Given the description of an element on the screen output the (x, y) to click on. 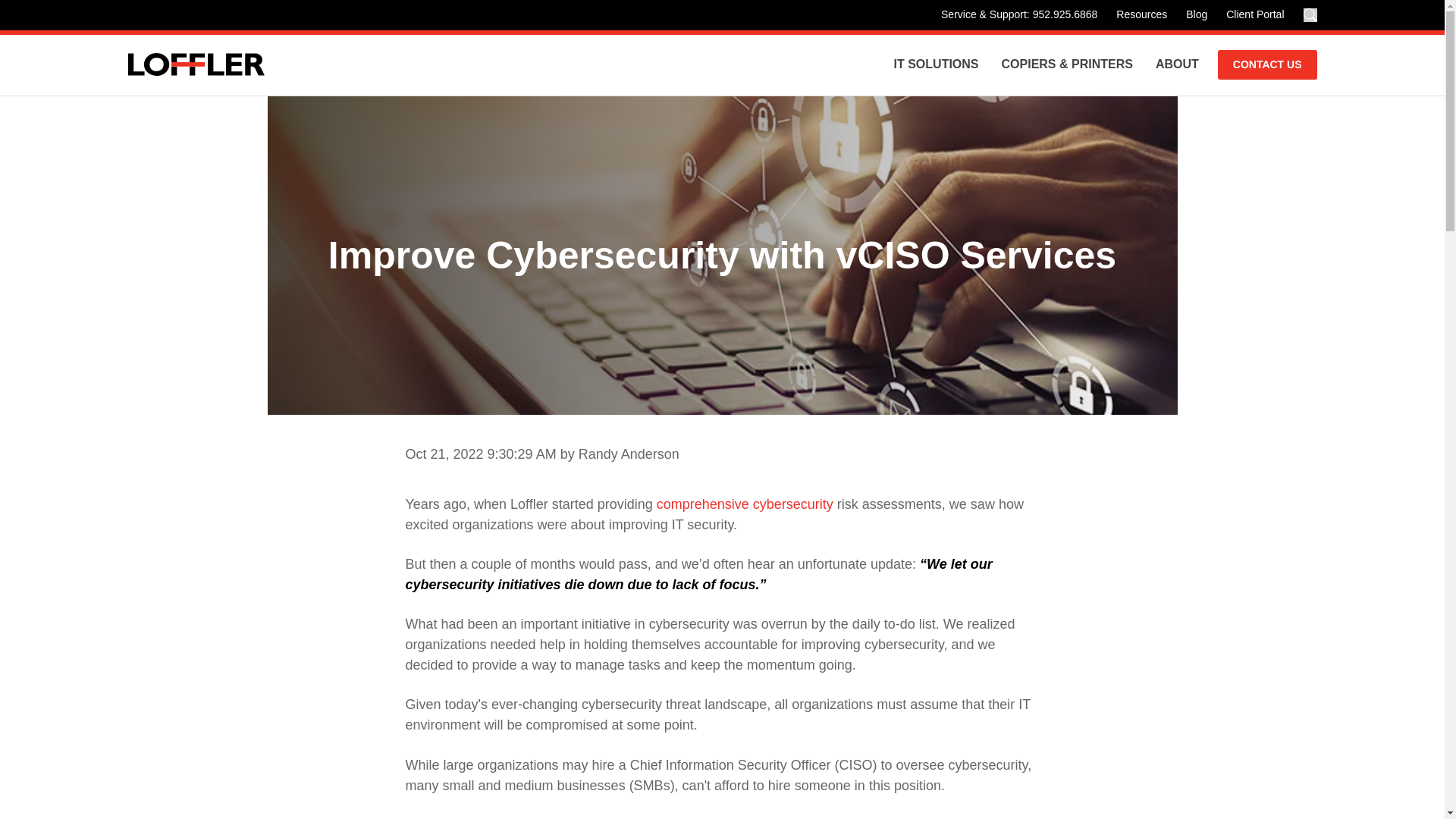
IT SOLUTIONS (936, 65)
ABOUT (1176, 65)
Blog (1195, 15)
Resources (1141, 15)
Client Portal (1254, 15)
